Given the description of an element on the screen output the (x, y) to click on. 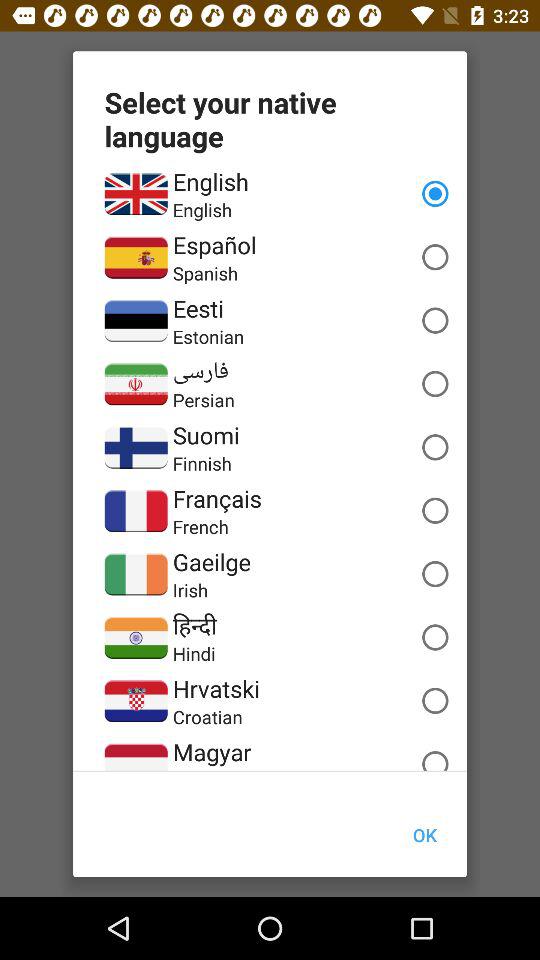
scroll until hindi item (193, 653)
